Given the description of an element on the screen output the (x, y) to click on. 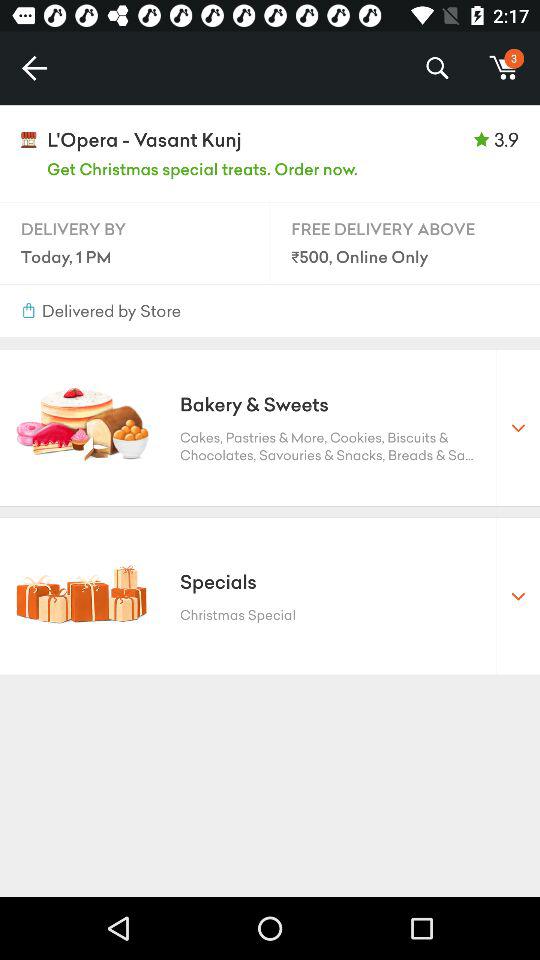
click the item next to m item (436, 67)
